Given the description of an element on the screen output the (x, y) to click on. 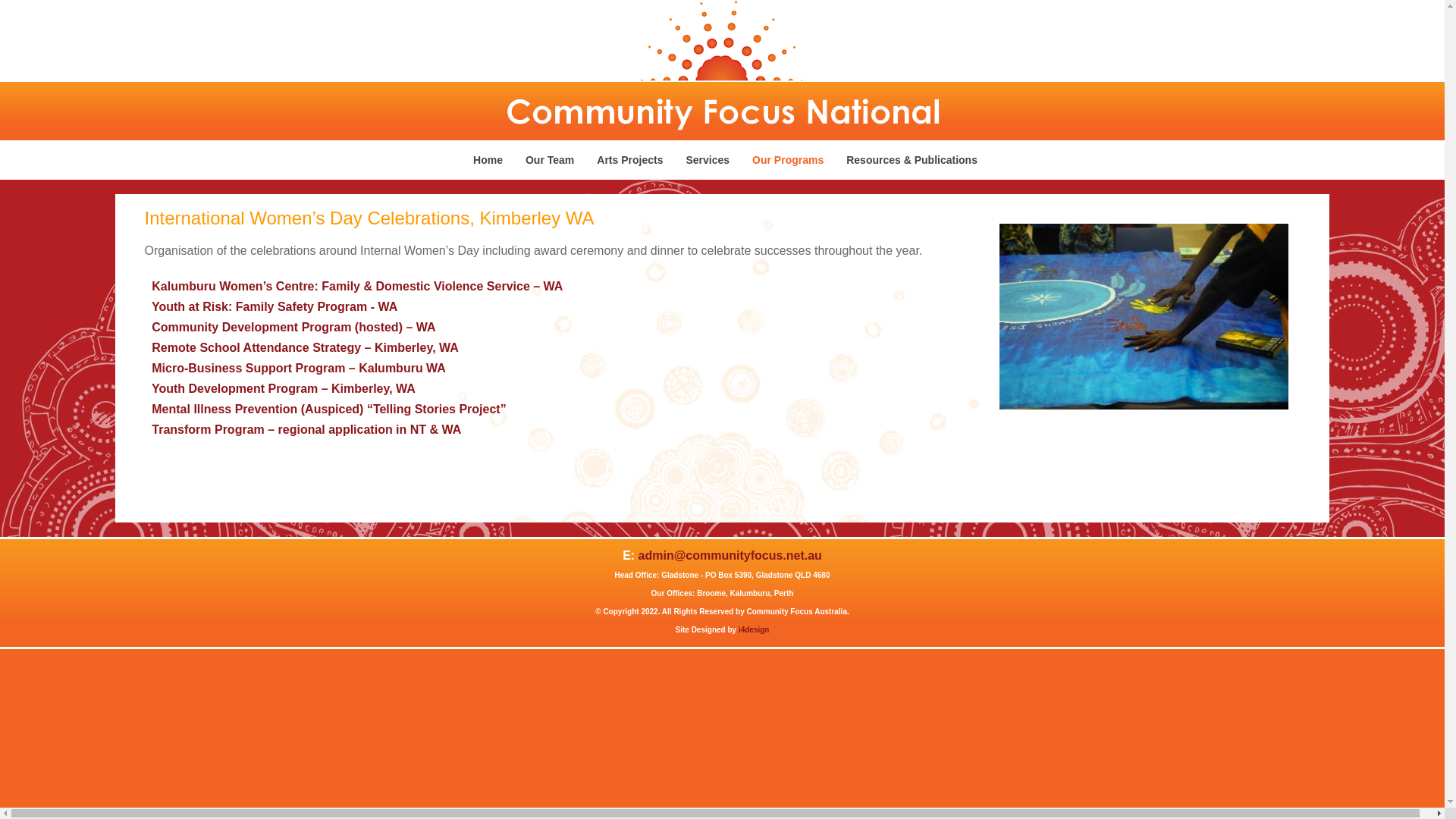
Resources & Publications Element type: text (911, 159)
i4design Element type: text (753, 629)
Our Team Element type: text (549, 159)
Arts Projects Element type: text (629, 159)
Youth at Risk: Family Safety Program - WA Element type: text (274, 306)
Services Element type: text (707, 159)
admin@communityfocus.net.au Element type: text (730, 555)
Our Programs Element type: text (787, 159)
Home Element type: text (487, 159)
